Given the description of an element on the screen output the (x, y) to click on. 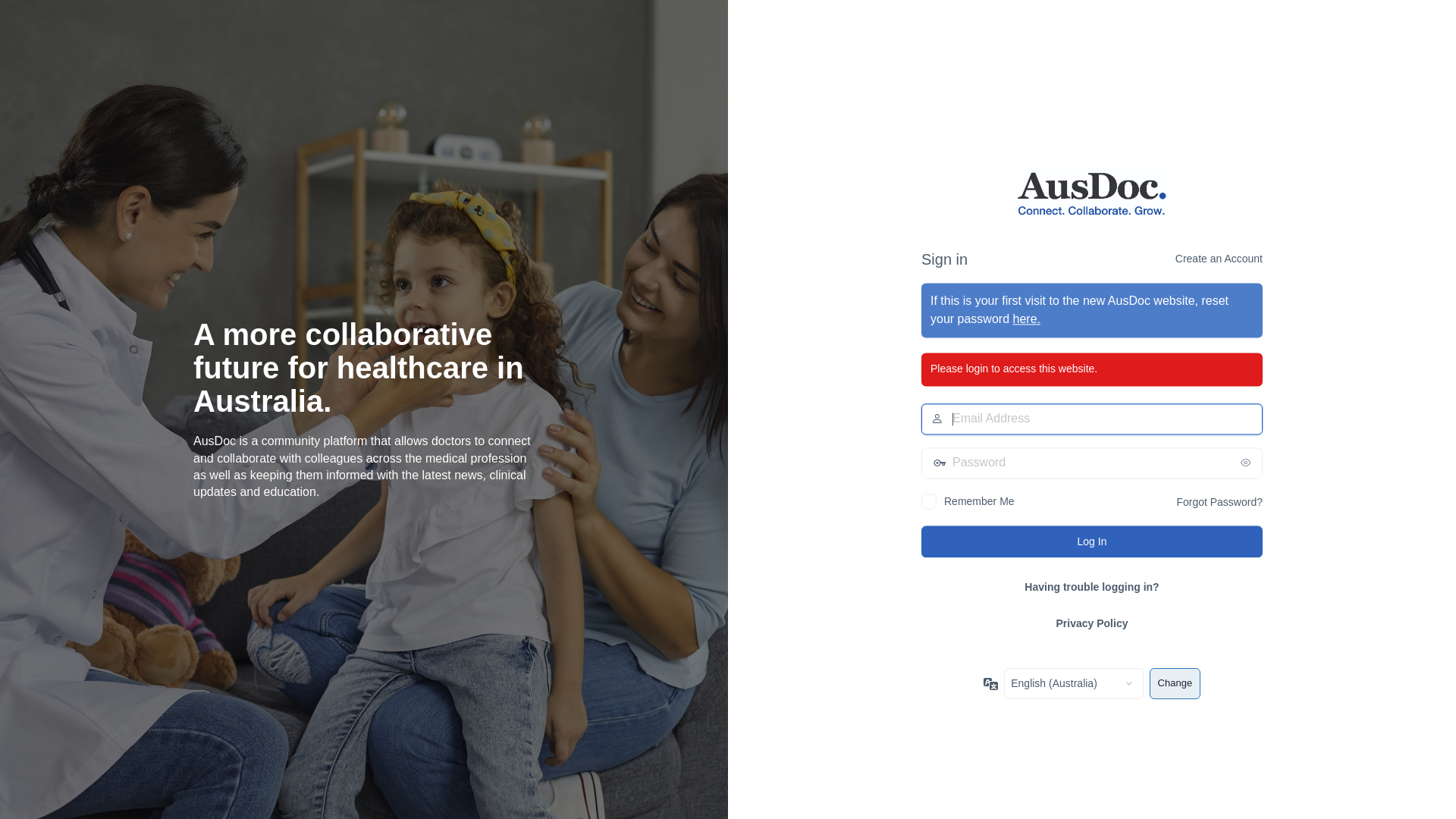
Having trouble logging in? Element type: text (1091, 586)
Forgot Password? Element type: text (1219, 501)
Privacy Policy Element type: text (1092, 623)
Create an Account Element type: text (1218, 259)
Log In Element type: text (1091, 541)
Change Element type: text (1175, 683)
here. Element type: text (1026, 319)
